Given the description of an element on the screen output the (x, y) to click on. 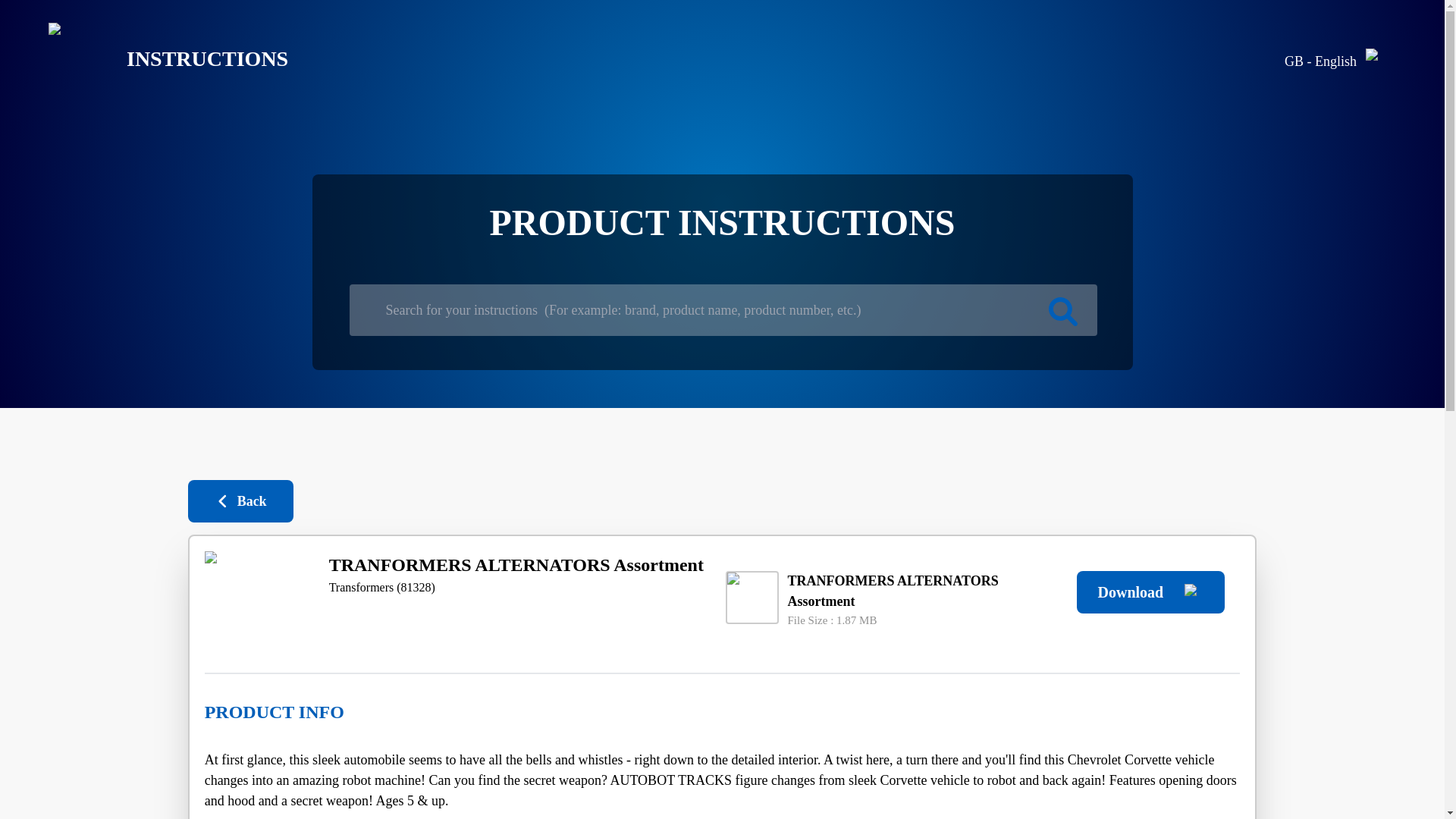
Back (240, 500)
Download (1150, 591)
INSTRUCTIONS (156, 59)
